Given the description of an element on the screen output the (x, y) to click on. 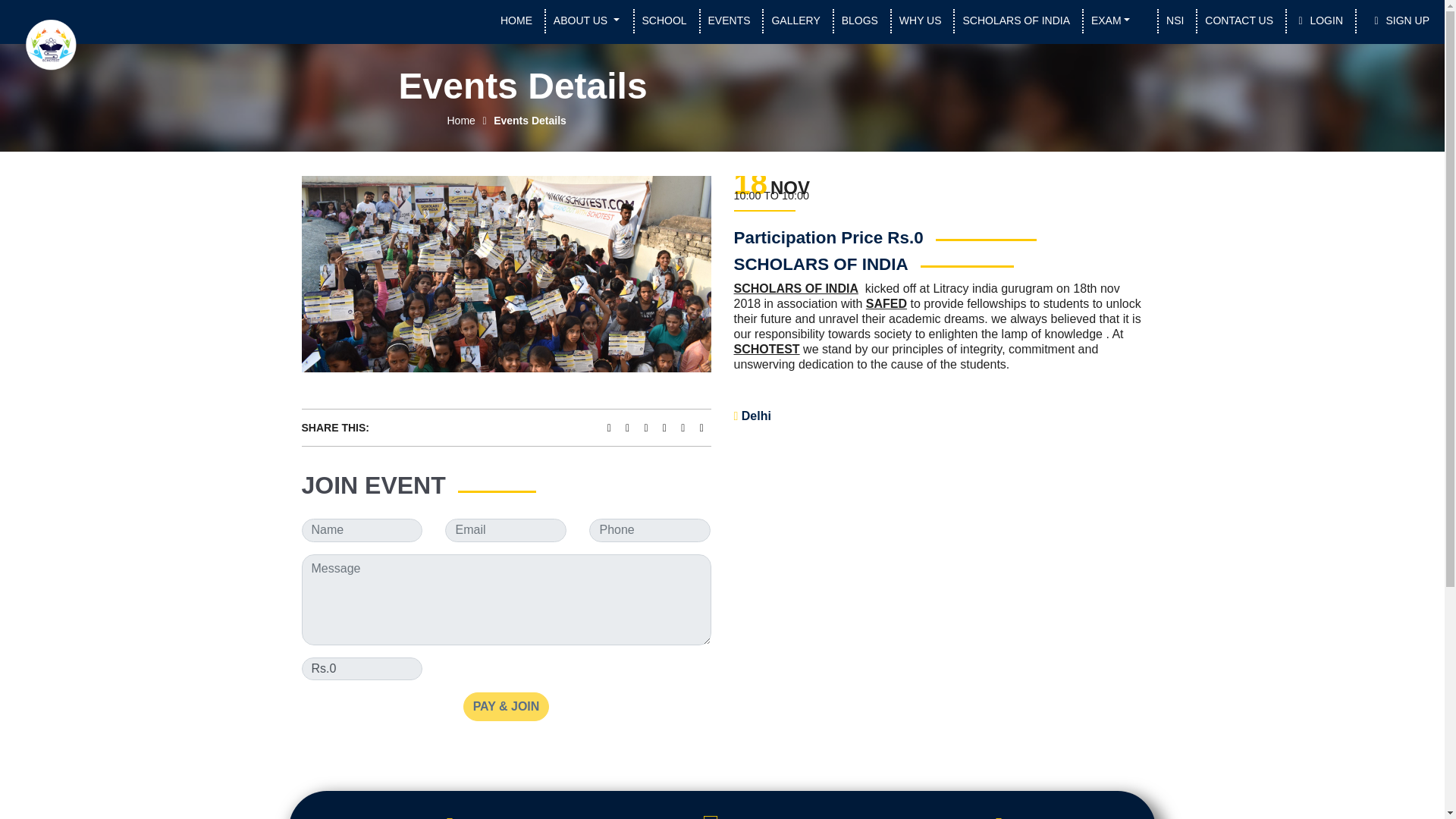
EXAM (1113, 21)
Home (461, 120)
HOME (512, 20)
ABOUT US (590, 21)
BLOGS (855, 20)
NSI (1170, 20)
GALLERY (790, 20)
CONTACT US (1234, 20)
LOGIN (1314, 20)
EVENTS (725, 20)
SCHOLARS OF INDIA (1012, 20)
SIGN UP (1392, 20)
Rs.0 (362, 668)
WHY US (916, 20)
SCHOOL (660, 20)
